Given the description of an element on the screen output the (x, y) to click on. 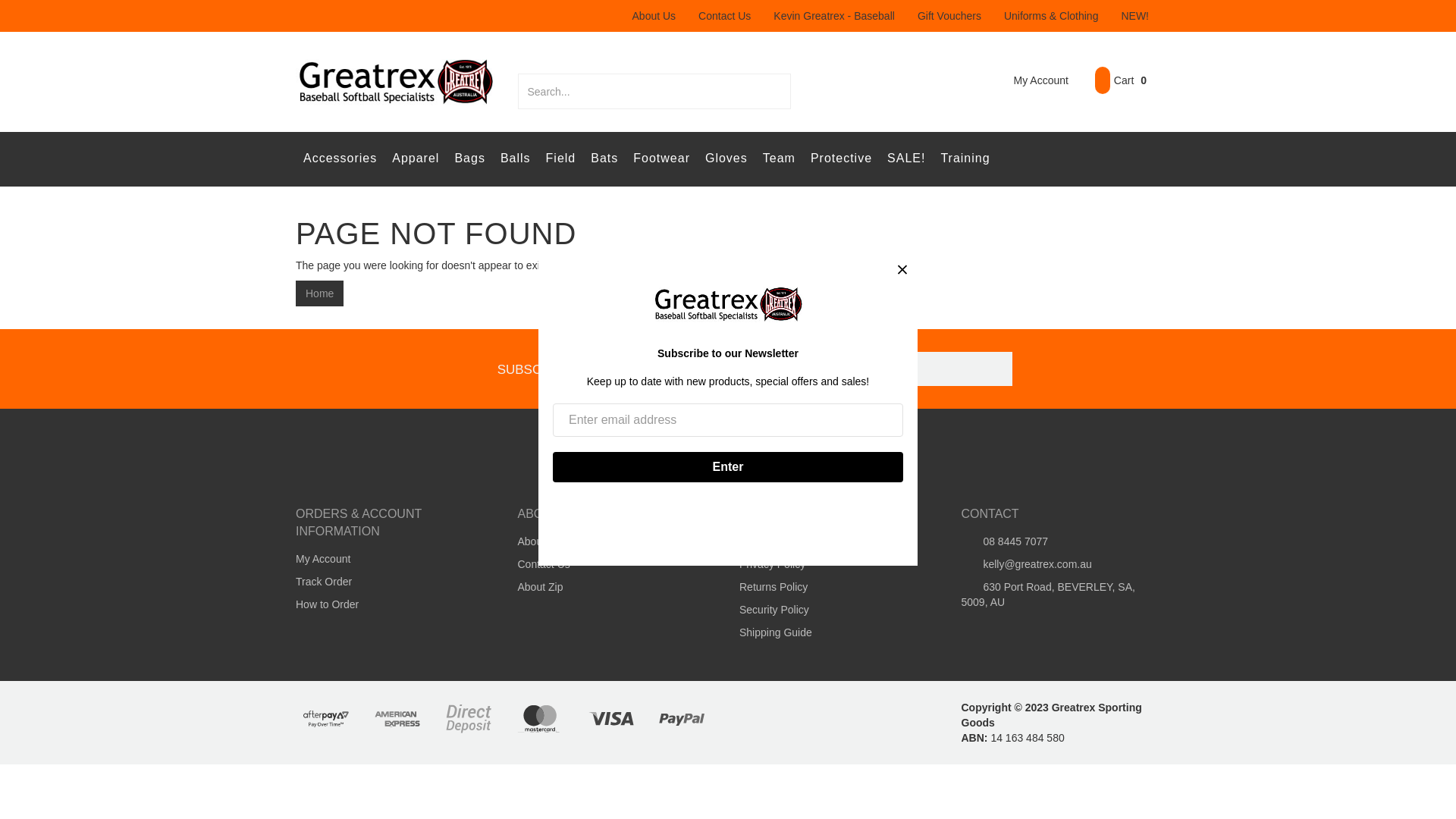
Security Policy Element type: text (833, 609)
Track Order Element type: text (389, 581)
About Zip Element type: text (611, 586)
Protective Element type: text (841, 158)
Subscribe Element type: text (995, 368)
My Account Element type: text (389, 558)
Shipping Guide Element type: text (833, 632)
630 Port Road, BEVERLEY, SA, 5009, AU Element type: text (1054, 594)
Balls Element type: text (515, 158)
My Account Element type: text (1029, 80)
Home Element type: text (319, 293)
Uniforms & Clothing Element type: text (1051, 15)
Bats Element type: text (604, 158)
NEW! Element type: text (1134, 15)
How to Order Element type: text (389, 604)
Training Element type: text (964, 158)
Bags Element type: text (469, 158)
Greatrex Sporting Goods Element type: hover (395, 80)
Cart 0 Element type: text (1120, 80)
Gloves Element type: text (726, 158)
Kevin Greatrex - Baseball Element type: text (834, 15)
Terms of Use Element type: text (833, 541)
About Us Element type: text (654, 15)
Apparel Element type: text (415, 158)
Accessories Element type: text (339, 158)
Footwear Element type: text (661, 158)
Returns Policy Element type: text (833, 586)
Contact Us Element type: text (724, 15)
SALE! Element type: text (905, 158)
Team Element type: text (779, 158)
About Us Element type: text (611, 541)
kelly@greatrex.com.au Element type: text (1054, 563)
Gift Vouchers Element type: text (949, 15)
Contact Us Element type: text (611, 563)
Privacy Policy Element type: text (833, 563)
Field Element type: text (560, 158)
Search Element type: text (780, 91)
08 8445 7077 Element type: text (1054, 541)
